Given the description of an element on the screen output the (x, y) to click on. 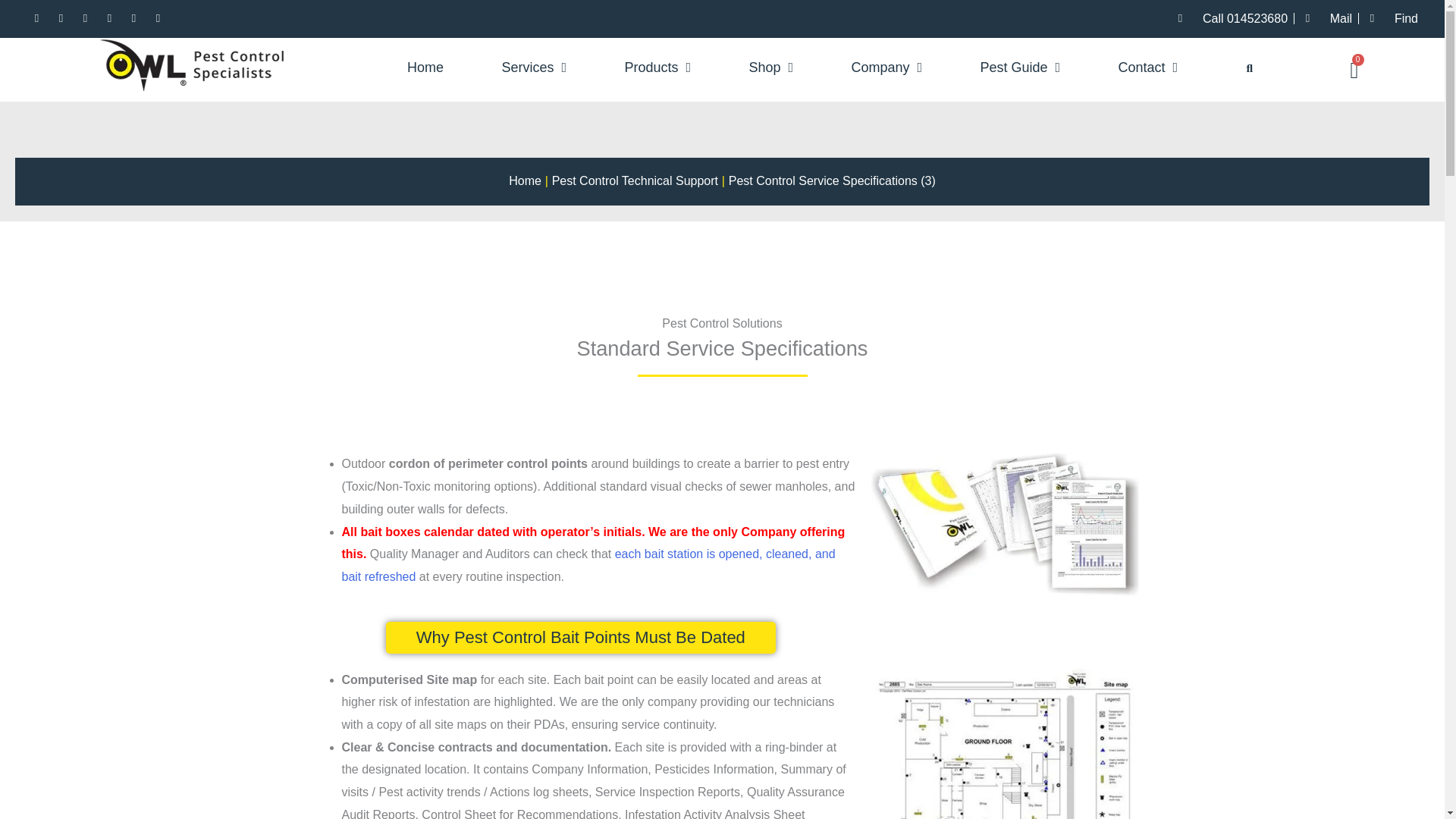
Owl Pest Control Specialists Dublin Main Logo (194, 63)
Call 014523680 (1230, 18)
Services (533, 67)
Instagram (60, 18)
Find (1391, 18)
Mail (1326, 18)
Pinterest (133, 18)
Home (424, 67)
Youtube (158, 18)
Facebook (36, 18)
Twitter (85, 18)
Linkedin (109, 18)
